Given the description of an element on the screen output the (x, y) to click on. 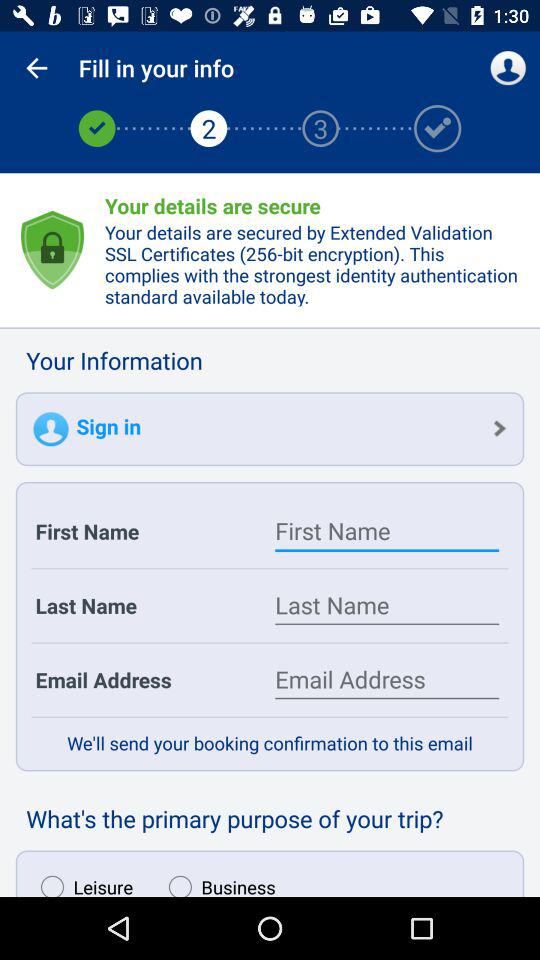
first name text box (387, 531)
